Given the description of an element on the screen output the (x, y) to click on. 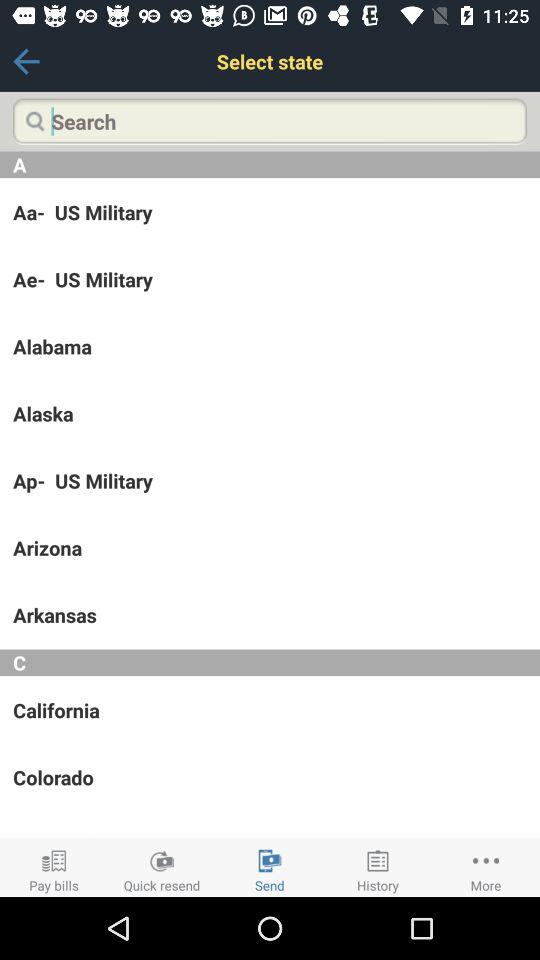
choose the item above the california app (270, 662)
